Given the description of an element on the screen output the (x, y) to click on. 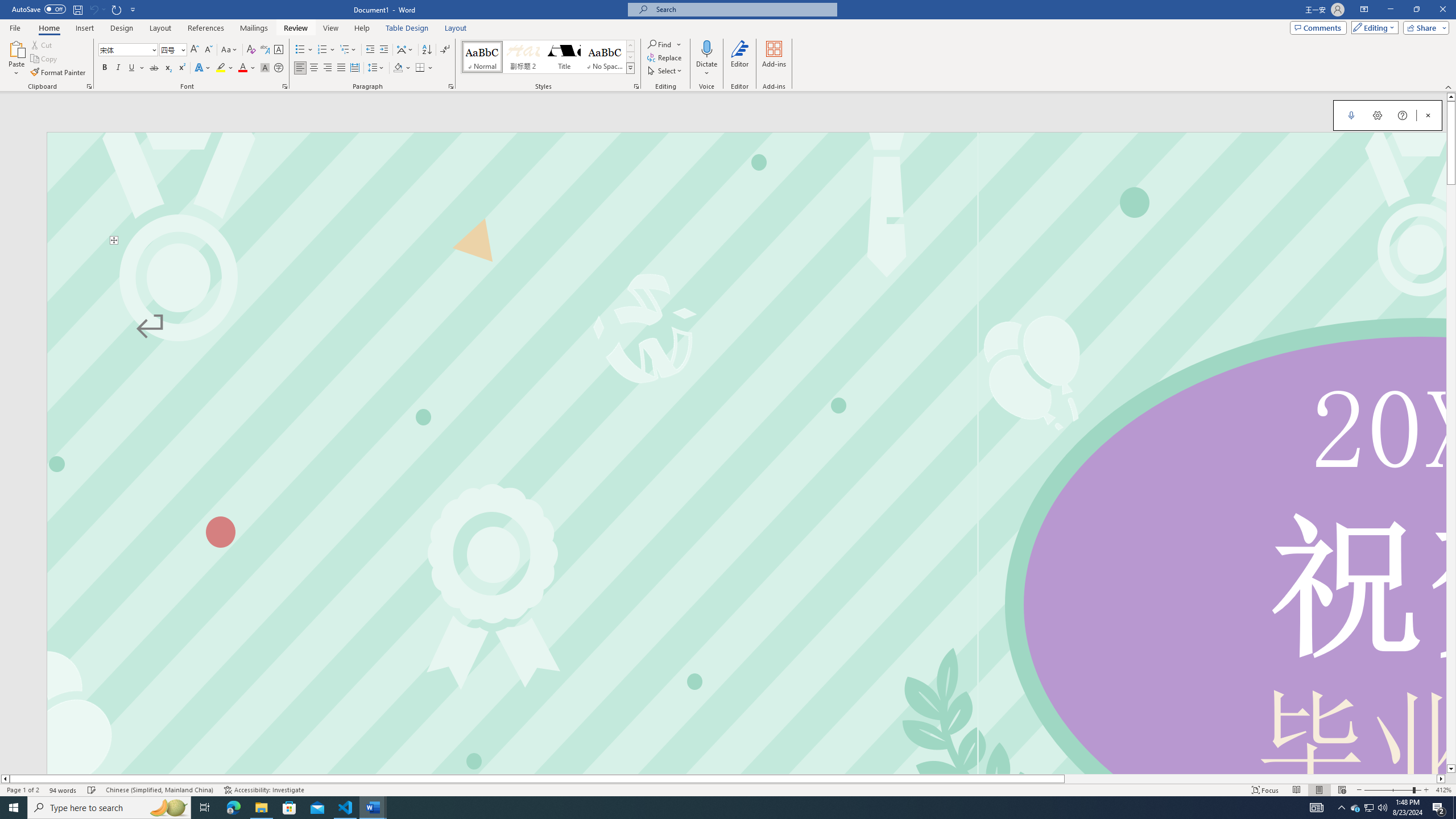
Font... (285, 85)
Text Highlight Color Yellow (220, 67)
Asian Layout (405, 49)
Replace... (665, 56)
Sort... (426, 49)
Dictation Settings (1377, 115)
Copy (45, 58)
